Given the description of an element on the screen output the (x, y) to click on. 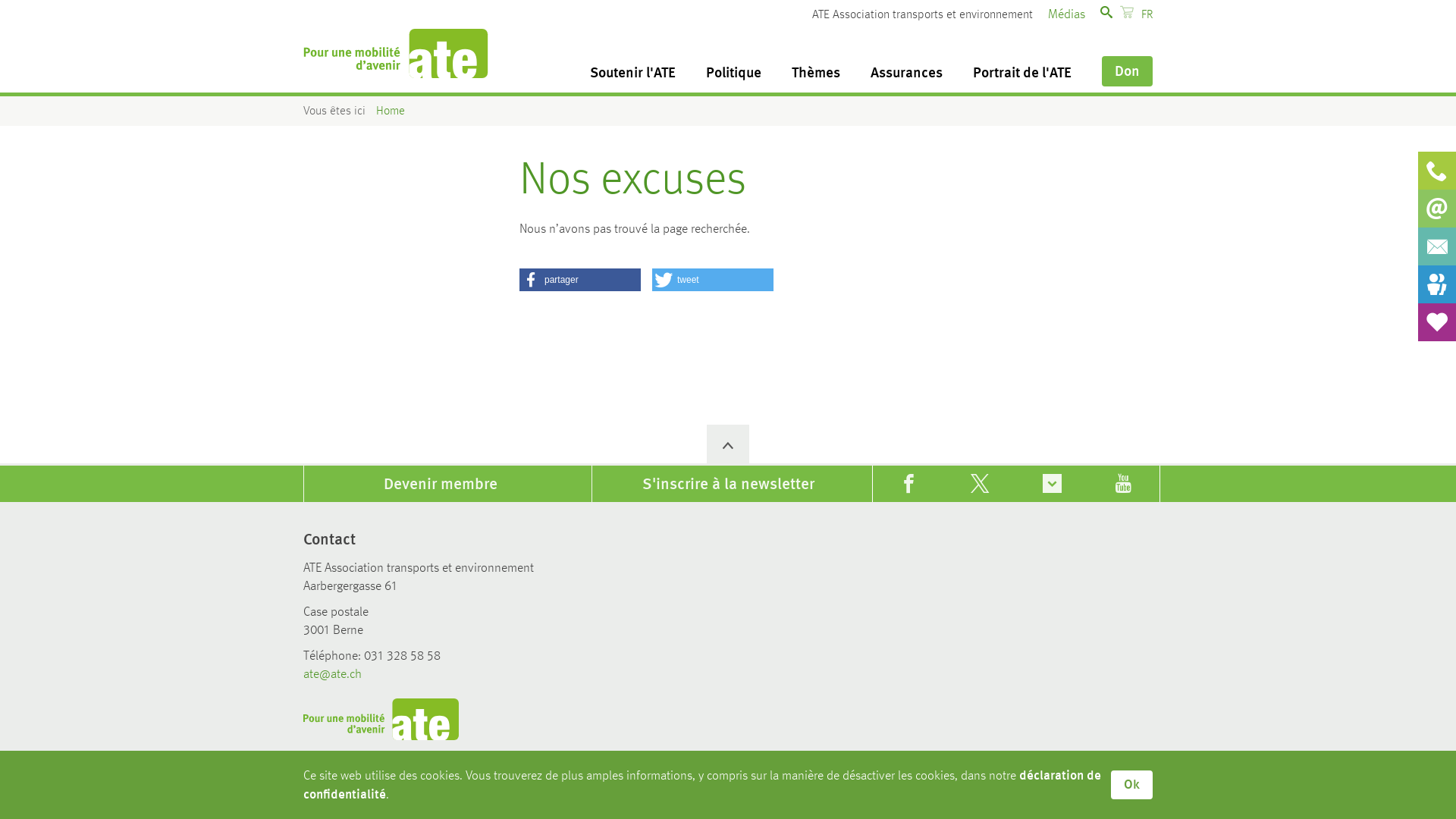
Portrait de l'ATE Element type: text (1021, 74)
ATE Association transports et environnement Element type: hover (380, 719)
Home Element type: text (390, 111)
Recherche Element type: text (1076, 68)
Politique Element type: text (733, 74)
Devenir membre Element type: text (439, 483)
Soutenir l'ATE Element type: text (632, 74)
partager Element type: text (579, 279)
Impressum Element type: text (777, 776)
Don Element type: text (1126, 71)
tweet Element type: text (712, 279)
Ok Element type: text (1131, 784)
ate@ate.ch Element type: text (332, 673)
ATE Association transports et environnement Element type: hover (395, 53)
Panier Element type: hover (1126, 11)
Assurances Element type: text (906, 74)
